Given the description of an element on the screen output the (x, y) to click on. 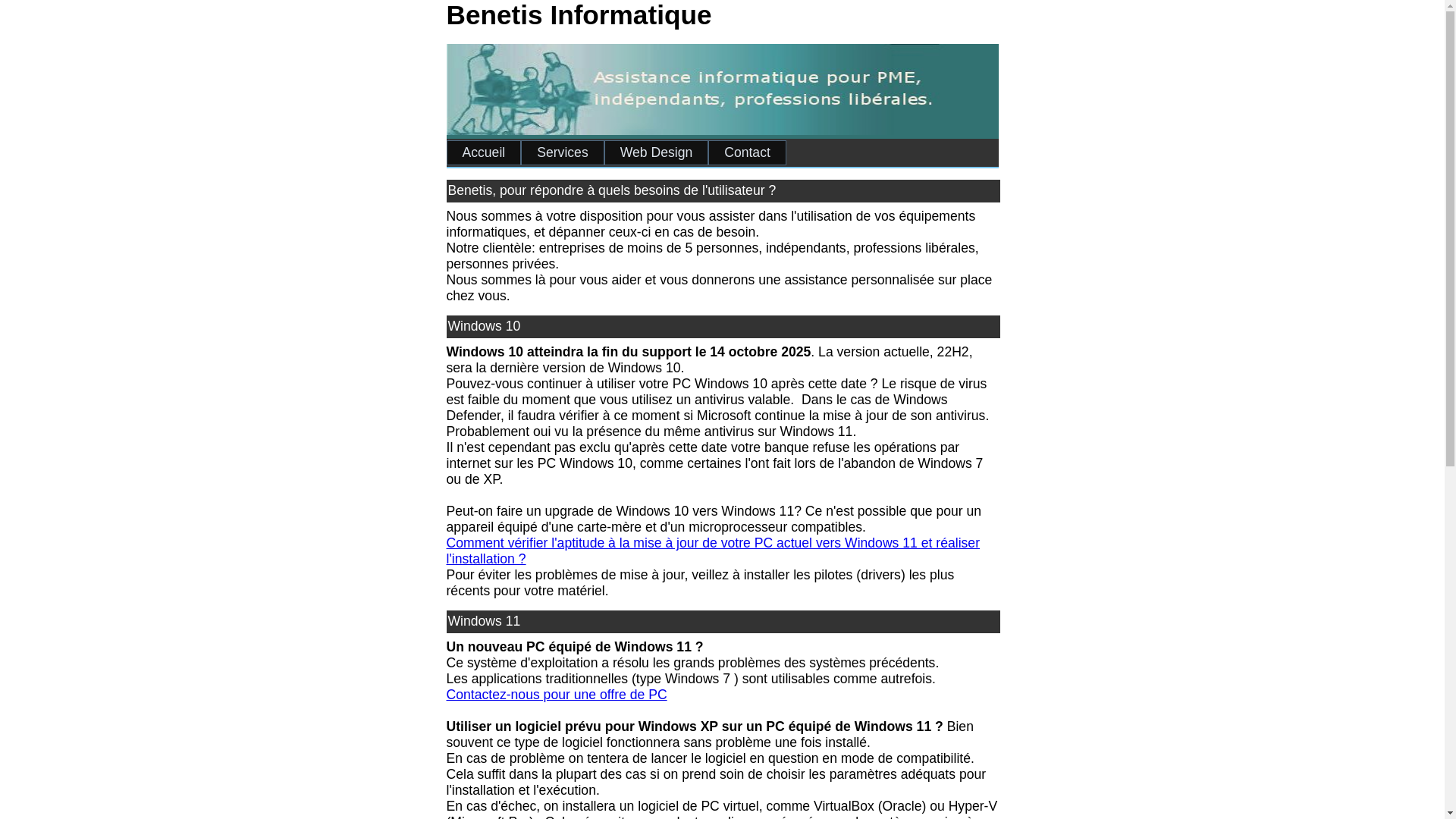
Contact Element type: text (747, 153)
Services Element type: text (561, 153)
Web Design Element type: text (656, 153)
Accueil Element type: text (482, 153)
Contactez-nous pour une offre de PC Element type: text (555, 694)
